Given the description of an element on the screen output the (x, y) to click on. 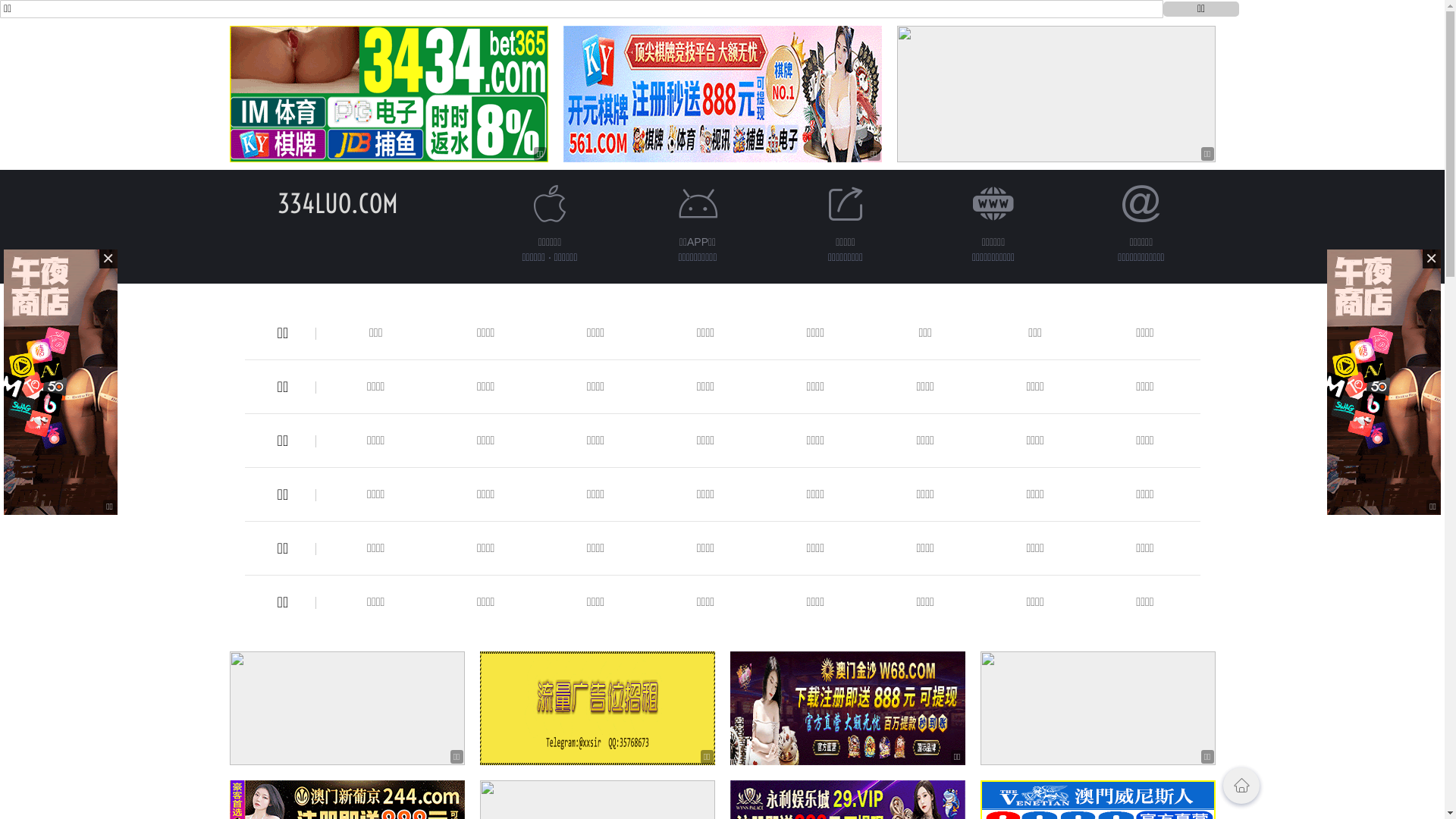
334LUO.COM Element type: text (337, 203)
